Given the description of an element on the screen output the (x, y) to click on. 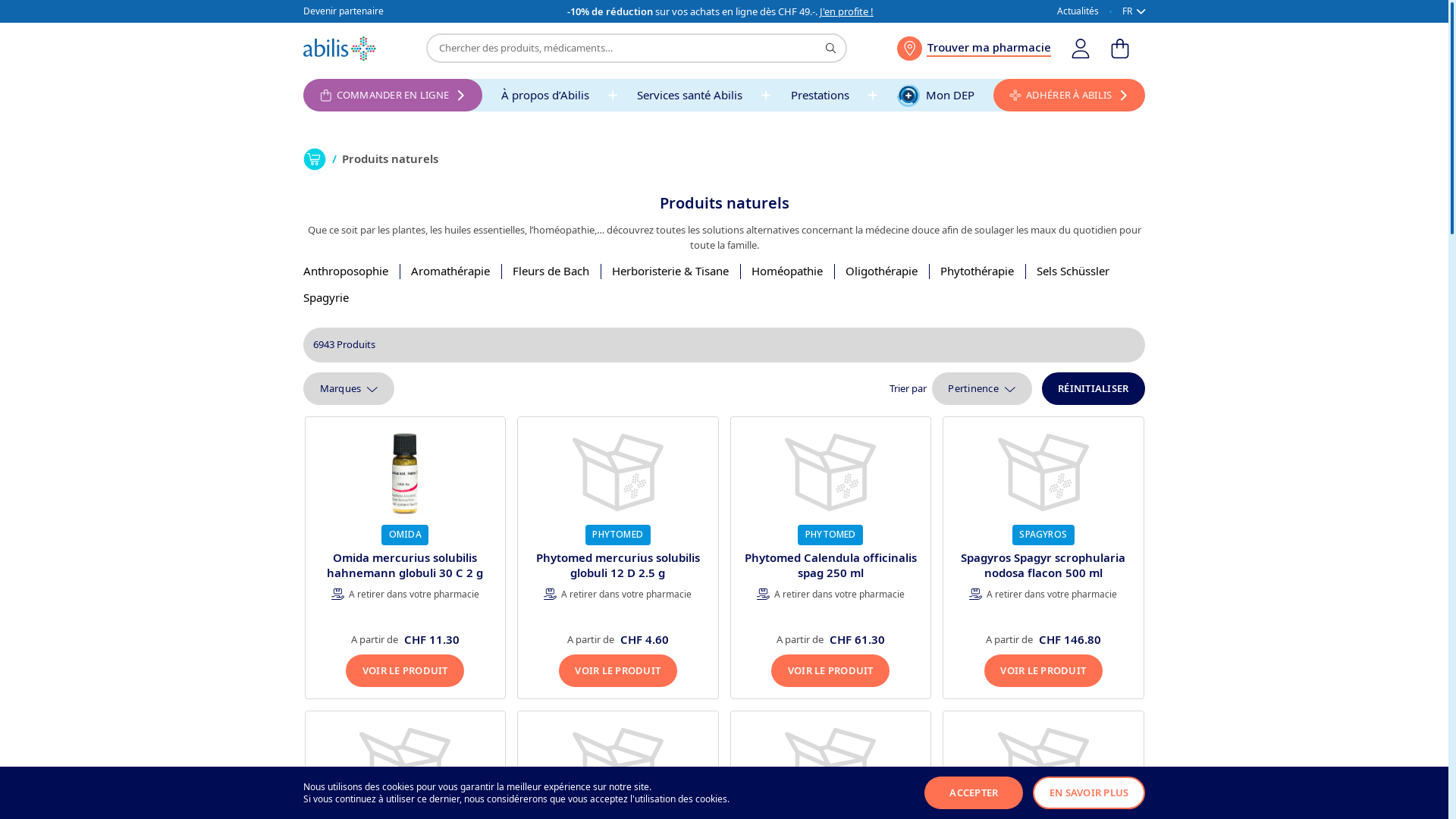
Phytomed Calendula officinalis spag 250 ml Element type: text (830, 564)
Pertinence Element type: text (981, 388)
VOIR LE PRODUIT Element type: text (1043, 670)
Spagyros Spagyr scrophularia nodosa flacon 500 ml Element type: text (1042, 564)
ACCEPTER Element type: text (973, 792)
J'en profite ! Element type: text (846, 11)
Spagyrie Element type: text (325, 297)
Trouver ma pharmacie Element type: text (974, 48)
Fleurs de Bach Element type: text (550, 271)
Omida mercurius solubilis hahnemann globuli 30 C 2 g Element type: text (404, 564)
Herboristerie & Tisane Element type: text (669, 271)
Devenir partenaire Element type: text (343, 11)
VOIR LE PRODUIT Element type: text (830, 670)
Marques Element type: text (348, 388)
Phytomed mercurius solubilis globuli 12 D 2.5 g Element type: text (617, 564)
EN SAVOIR PLUS Element type: text (1088, 792)
Anthroposophie Element type: text (345, 271)
VOIR LE PRODUIT Element type: text (404, 670)
COMMANDER EN LIGNE Element type: text (392, 94)
VOIR LE PRODUIT Element type: text (617, 670)
Mon DEP Element type: text (935, 94)
